Given the description of an element on the screen output the (x, y) to click on. 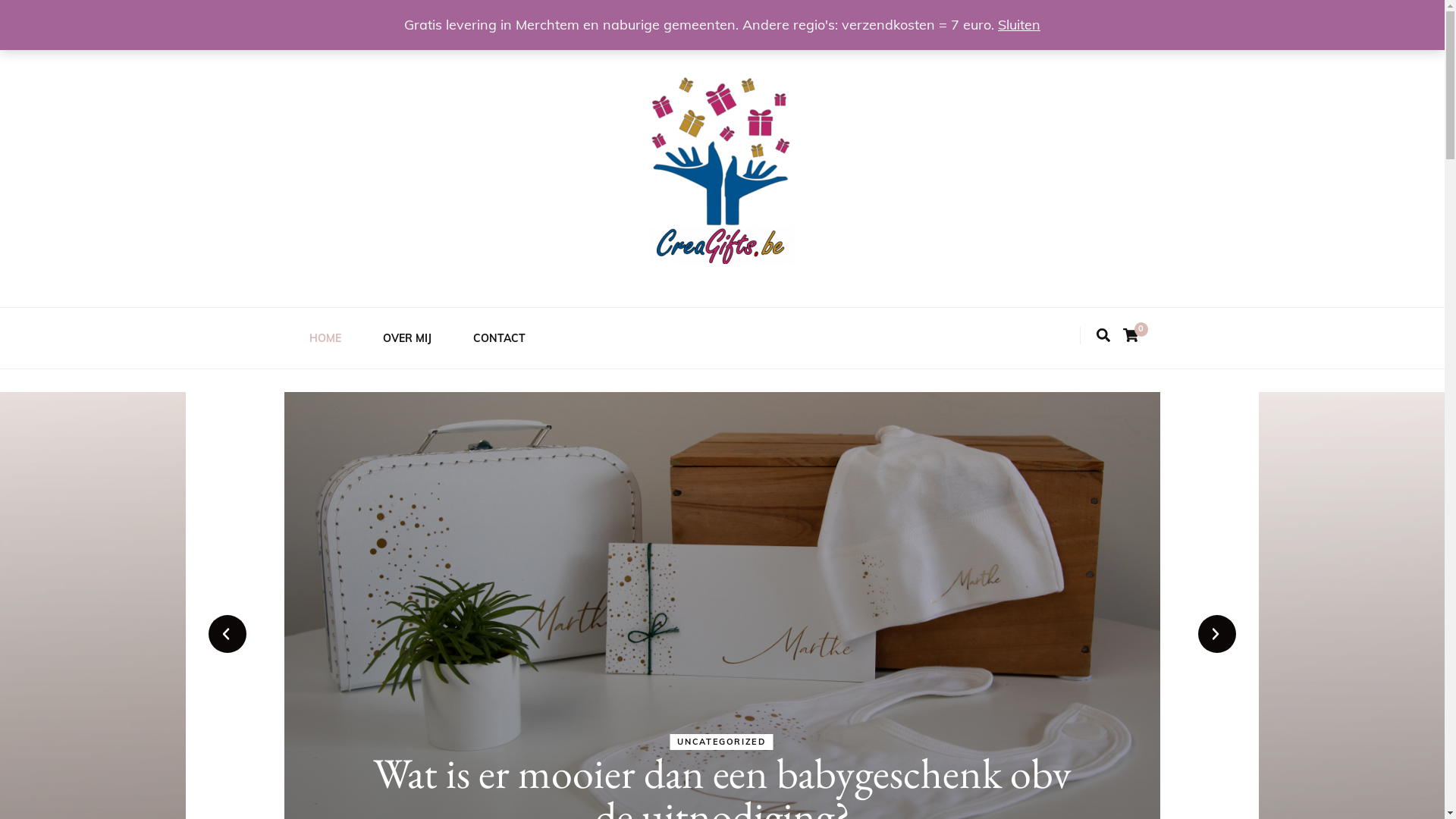
CreaGifts.be Element type: text (383, 287)
Sluiten Element type: text (1018, 24)
Facebook Element type: text (313, 19)
E-mail Element type: text (368, 19)
OVER MIJ Element type: text (406, 338)
UNCATEGORIZED Element type: text (720, 741)
0 Element type: text (1130, 335)
HOME Element type: text (325, 338)
CONTACT Element type: text (499, 338)
